Given the description of an element on the screen output the (x, y) to click on. 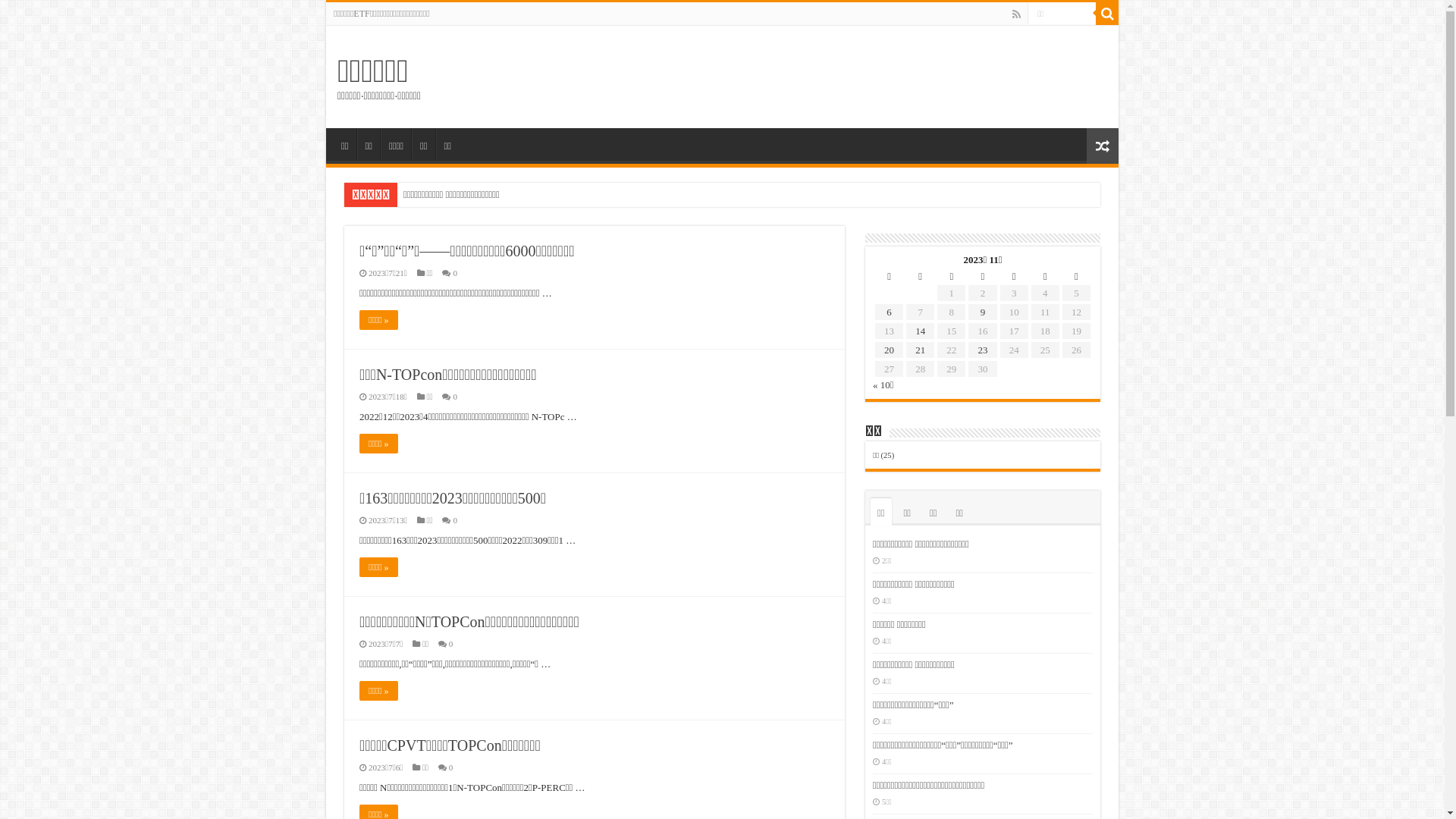
20 Element type: text (889, 349)
21 Element type: text (920, 349)
0 Element type: text (450, 766)
0 Element type: text (454, 519)
6 Element type: text (888, 311)
14 Element type: text (920, 330)
0 Element type: text (450, 643)
9 Element type: text (982, 311)
0 Element type: text (454, 272)
23 Element type: text (982, 349)
Rss Element type: hover (1016, 14)
0 Element type: text (454, 396)
